Given the description of an element on the screen output the (x, y) to click on. 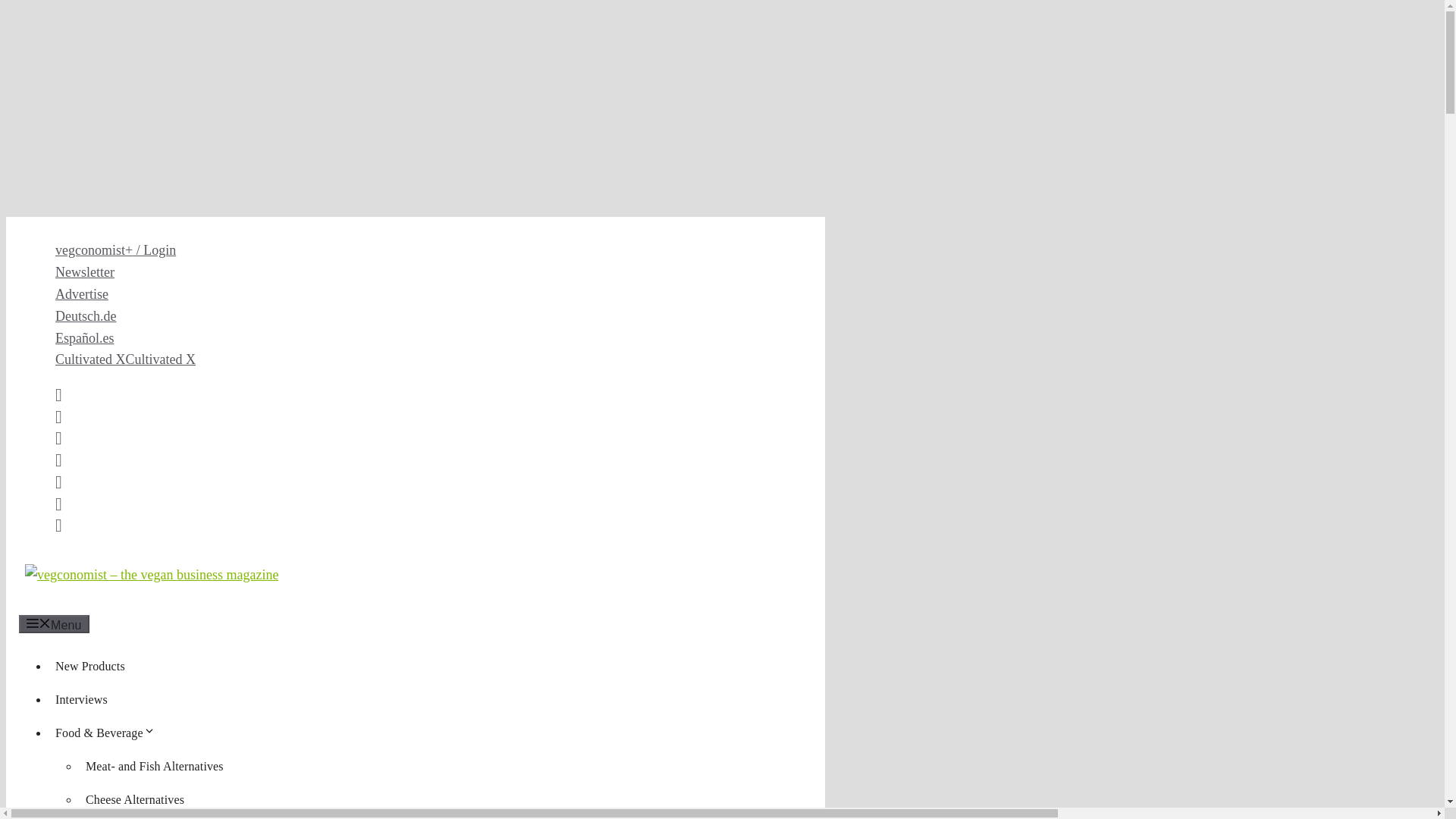
New Products (90, 666)
Cheese Alternatives (135, 799)
Advertise (81, 294)
Deutsch.de (85, 315)
Cultivated XCultivated X (125, 359)
Newsletter (85, 272)
Menu (53, 624)
Interviews (81, 698)
Meat- and Fish Alternatives (155, 766)
